Given the description of an element on the screen output the (x, y) to click on. 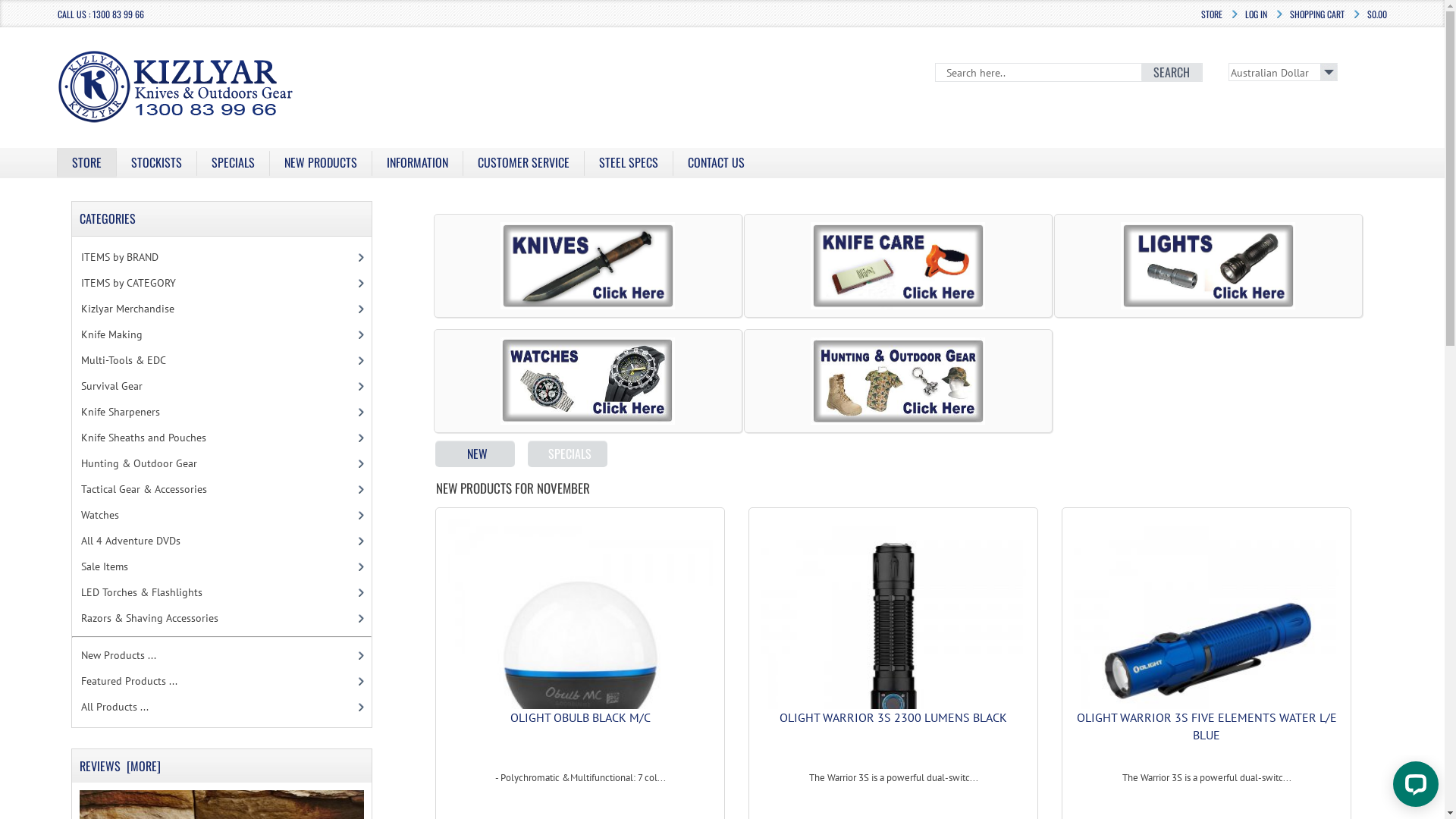
Knife Sheaths and Pouches -  (22) Element type: text (218, 437)
OLIGHT WARRIOR 3S FIVE ELEMENTS WATER L/E BLUE Element type: text (1206, 725)
STORE Element type: text (86, 162)
Sale Items -  (1) Element type: text (218, 566)
Kizlyar Merchandise -  (2) Element type: text (218, 308)
ITEMS by CATEGORY -  (37) Element type: text (218, 282)
New Products ... Element type: text (218, 655)
CUSTOMER SERVICE Element type: text (523, 162)
INFORMATION Element type: text (417, 162)
ITEMS by BRAND -  (496) Element type: text (218, 256)
Survival Gear -  (31) Element type: text (218, 385)
Multi-Tools & EDC -  (33) Element type: text (218, 360)
STEEL SPECS Element type: text (628, 162)
SEARCH Element type: text (1171, 71)
 Olight Warrior 3S 2300 Lumens Black  Element type: hover (893, 651)
Knife Making -  (13) Element type: text (218, 334)
SPECIALS Element type: text (567, 453)
LED Torches & Flashlights -  (78) Element type: text (218, 592)
STOCKISTS Element type: text (156, 162)
REVIEWS  [MORE] Element type: text (124, 765)
Featured Products ... Element type: text (218, 680)
OLIGHT OBULB BLACK M/C Element type: text (580, 716)
 Olight Obulb Black M/C  Element type: hover (580, 651)
LOG IN Element type: text (1256, 13)
Knife Sharpeners -  (25) Element type: text (218, 411)
NEW PRODUCTS Element type: text (320, 162)
SPECIALS Element type: text (232, 162)
$0.00 Element type: text (1376, 13)
OLIGHT WARRIOR 3S 2300 LUMENS BLACK Element type: text (893, 716)
Hunting & Outdoor Gear -  (23) Element type: text (218, 463)
Tactical Gear & Accessories -  (9) Element type: text (218, 489)
All Products ... Element type: text (218, 706)
All 4 Adventure DVDs Element type: text (218, 540)
CONTACT US Element type: text (715, 162)
NEW Element type: text (474, 453)
SHOPPING CART Element type: text (1316, 13)
Razors & Shaving Accessories -  (4) Element type: text (218, 617)
STORE Element type: text (1211, 13)
Watches Element type: text (218, 514)
 Olight Warrior 3S Five Elements Water L/E Blue  Element type: hover (1205, 651)
